Given the description of an element on the screen output the (x, y) to click on. 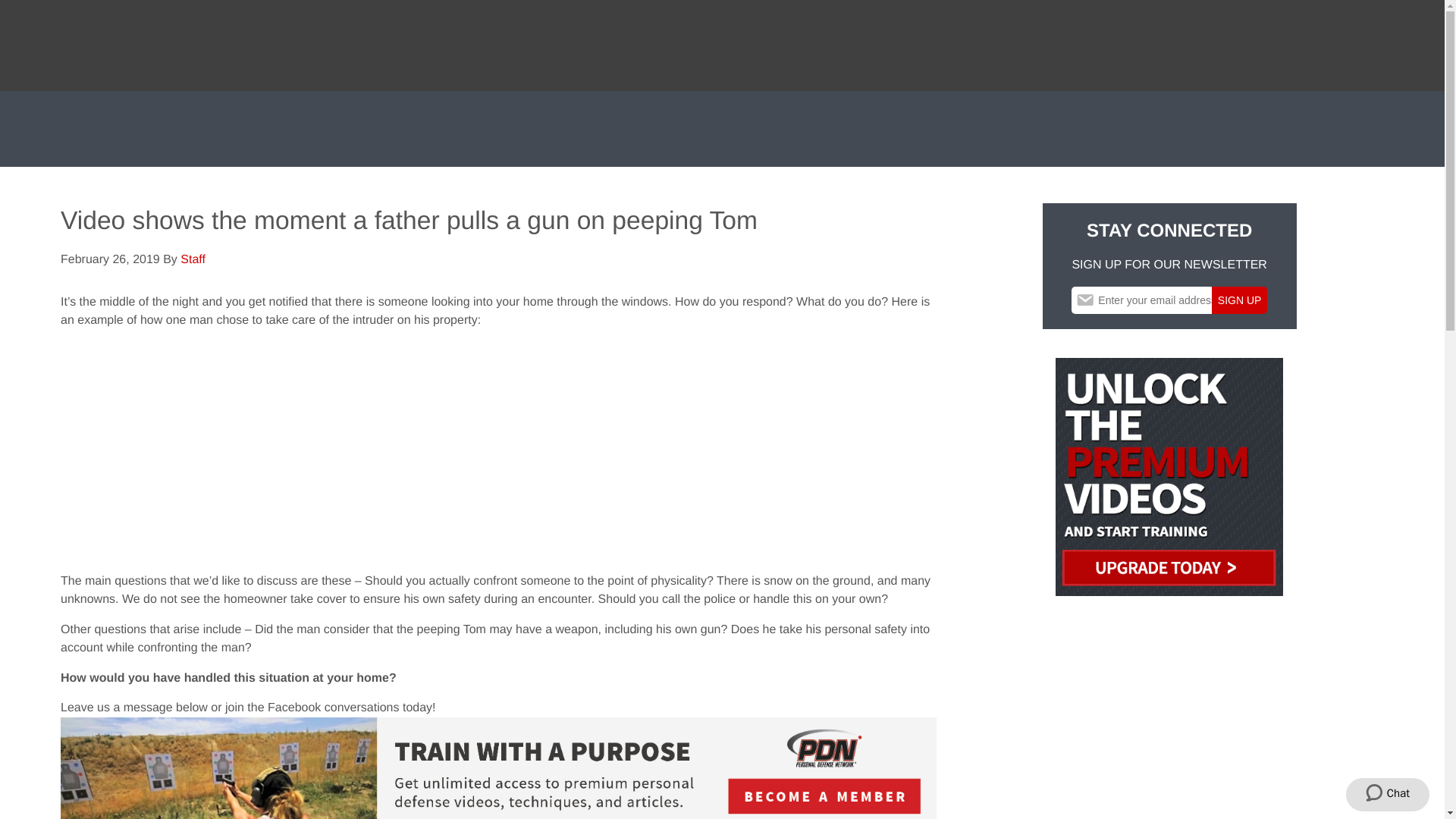
Staff (192, 259)
Sign Up (1238, 299)
Sign Up (1238, 299)
